Given the description of an element on the screen output the (x, y) to click on. 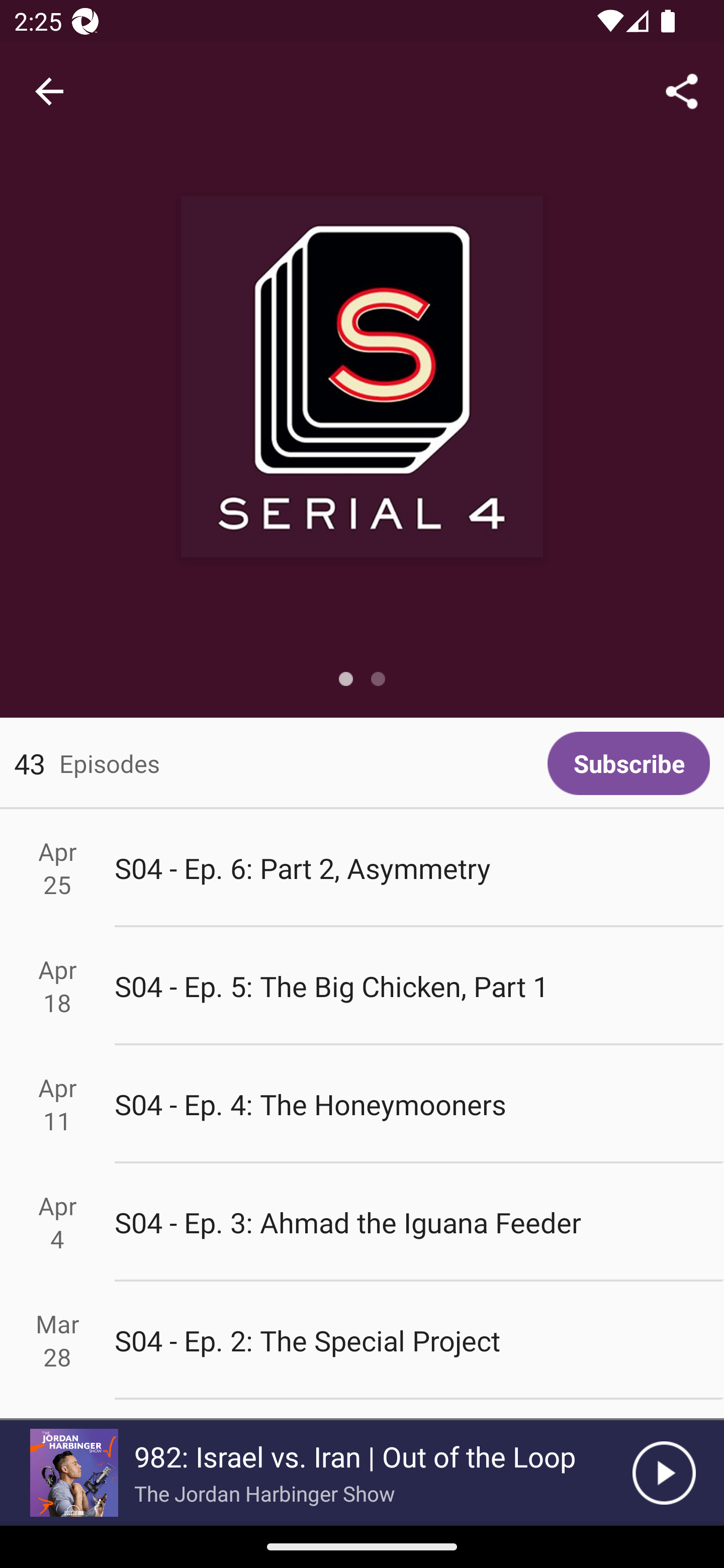
Navigate up (49, 91)
Share... (681, 90)
Subscribe (628, 763)
Apr 25 S04 - Ep. 6: Part 2, Asymmetry (362, 867)
Apr 18 S04 - Ep. 5: The Big Chicken, Part 1 (362, 985)
Apr 11 S04 - Ep. 4: The Honeymooners (362, 1104)
Apr 4 S04 - Ep. 3: Ahmad the Iguana Feeder (362, 1222)
Mar 28 S04 - Ep. 2: The Special Project (362, 1340)
Play (663, 1472)
